Given the description of an element on the screen output the (x, y) to click on. 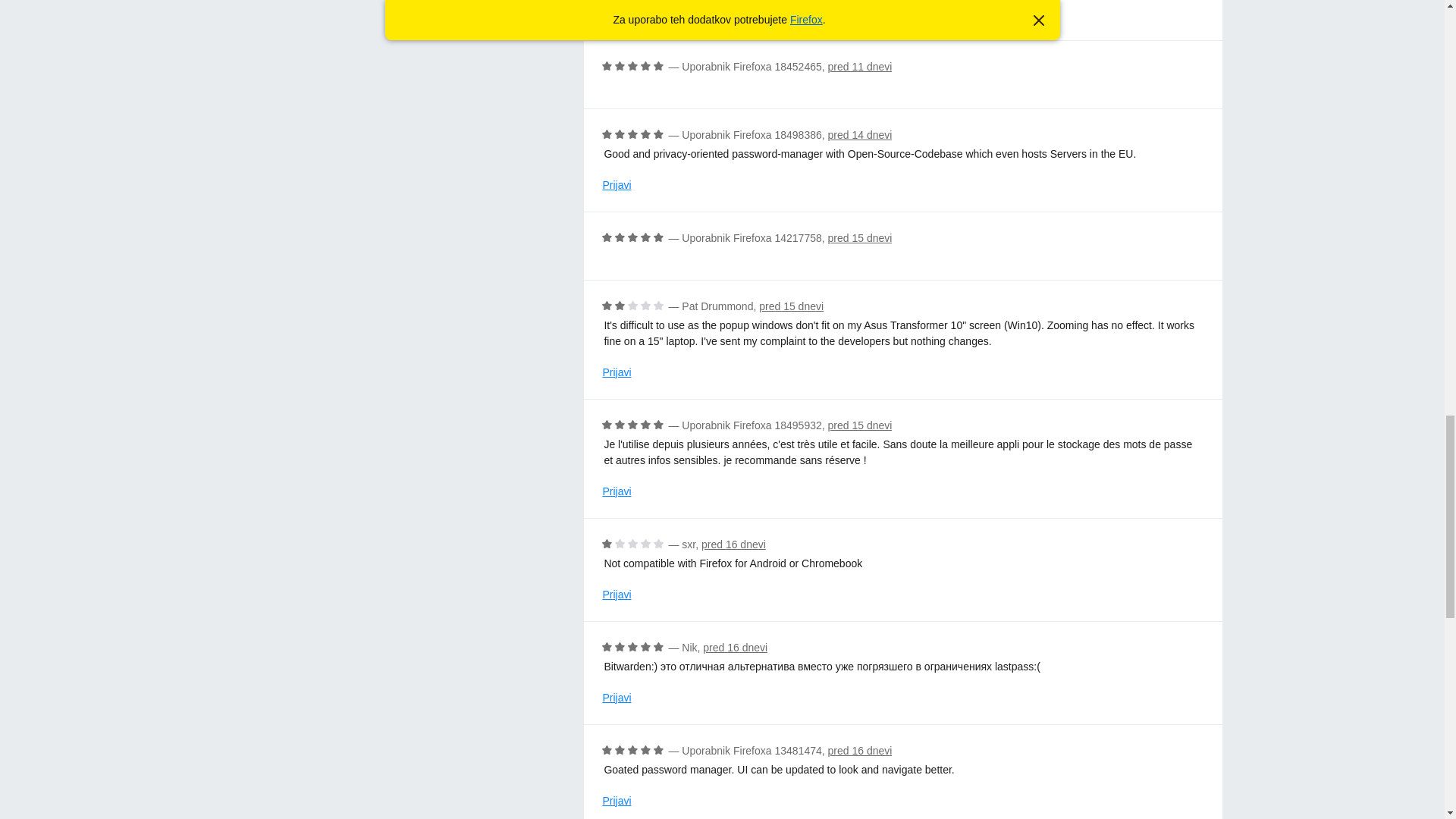
pred 10 dnevi (767, 2)
